Given the description of an element on the screen output the (x, y) to click on. 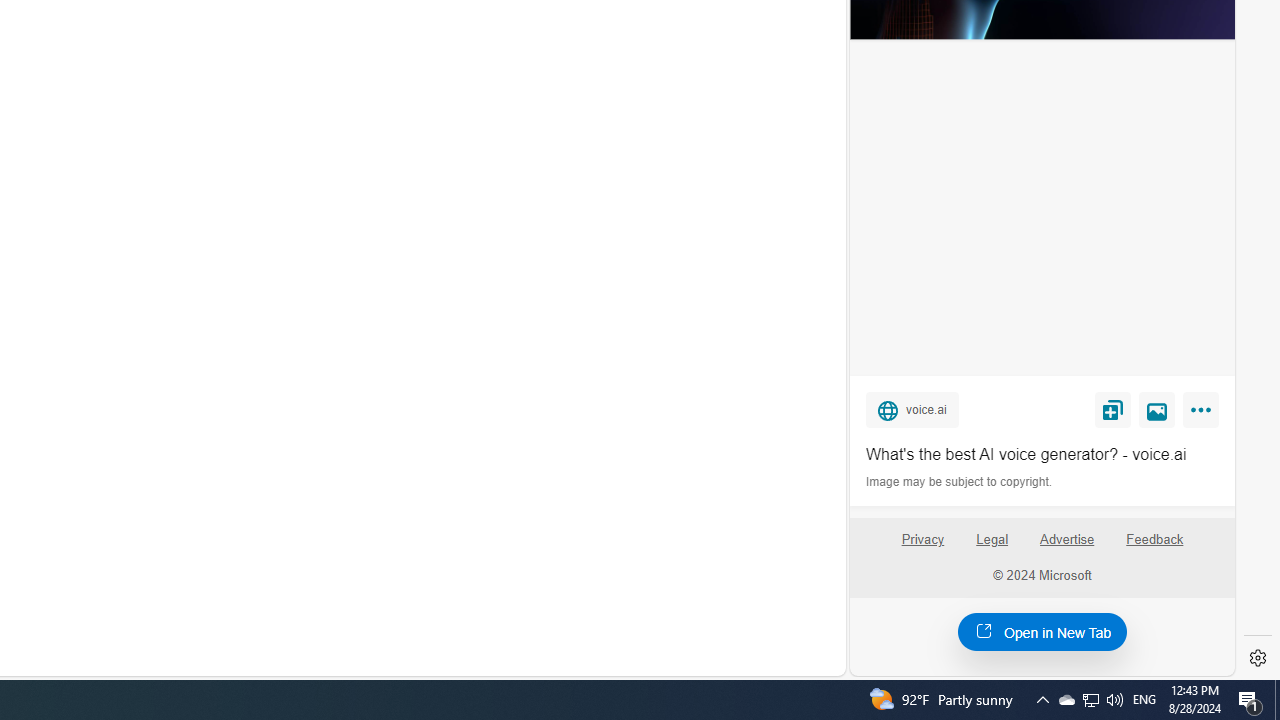
Legal (992, 547)
voice.ai (912, 409)
Privacy (922, 539)
Open in New Tab (1042, 631)
Image may be subject to copyright. (959, 481)
Privacy (922, 547)
View image (1157, 409)
